Given the description of an element on the screen output the (x, y) to click on. 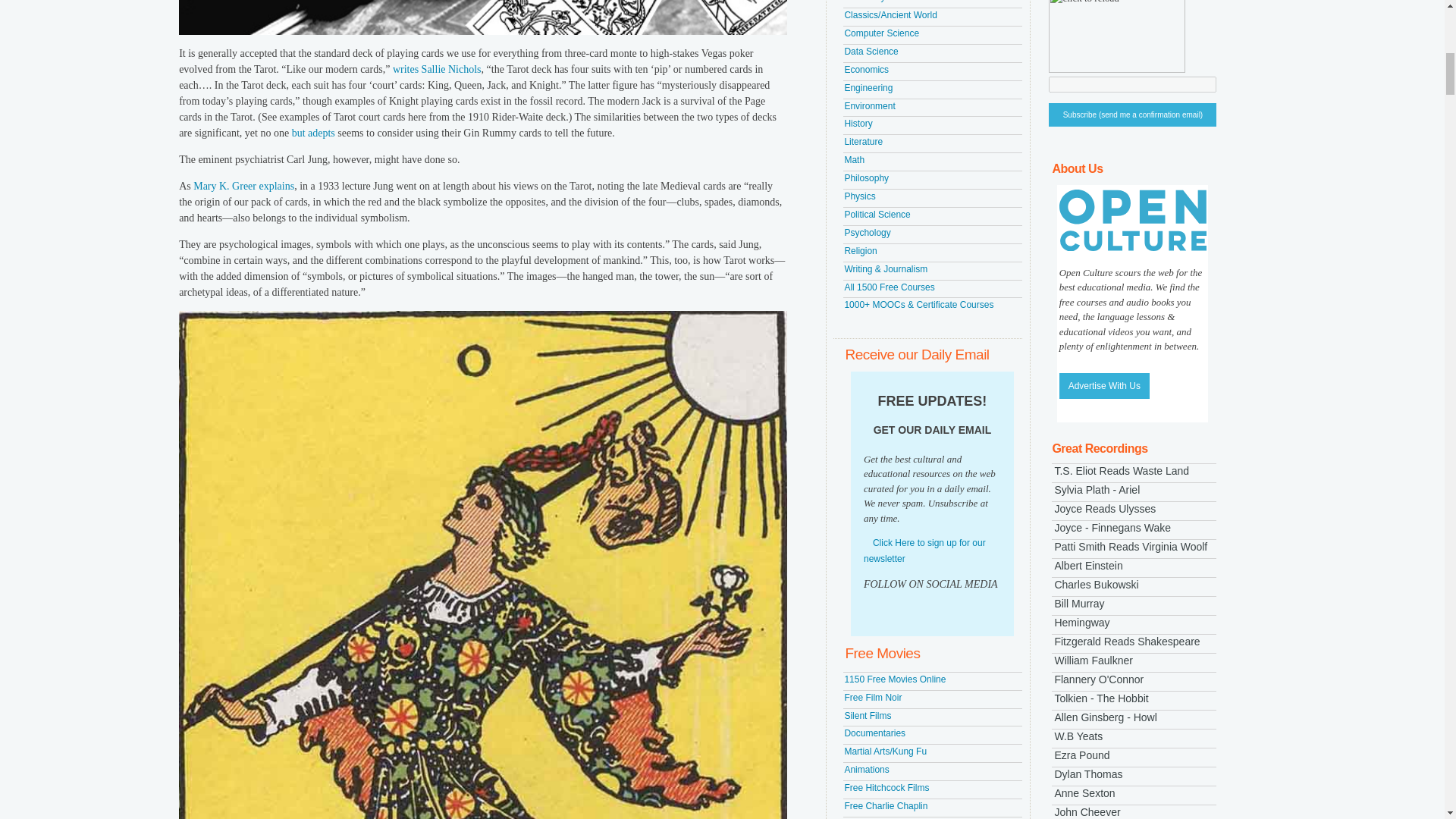
Mary K. Greer explains (243, 185)
but adepts (313, 132)
